Given the description of an element on the screen output the (x, y) to click on. 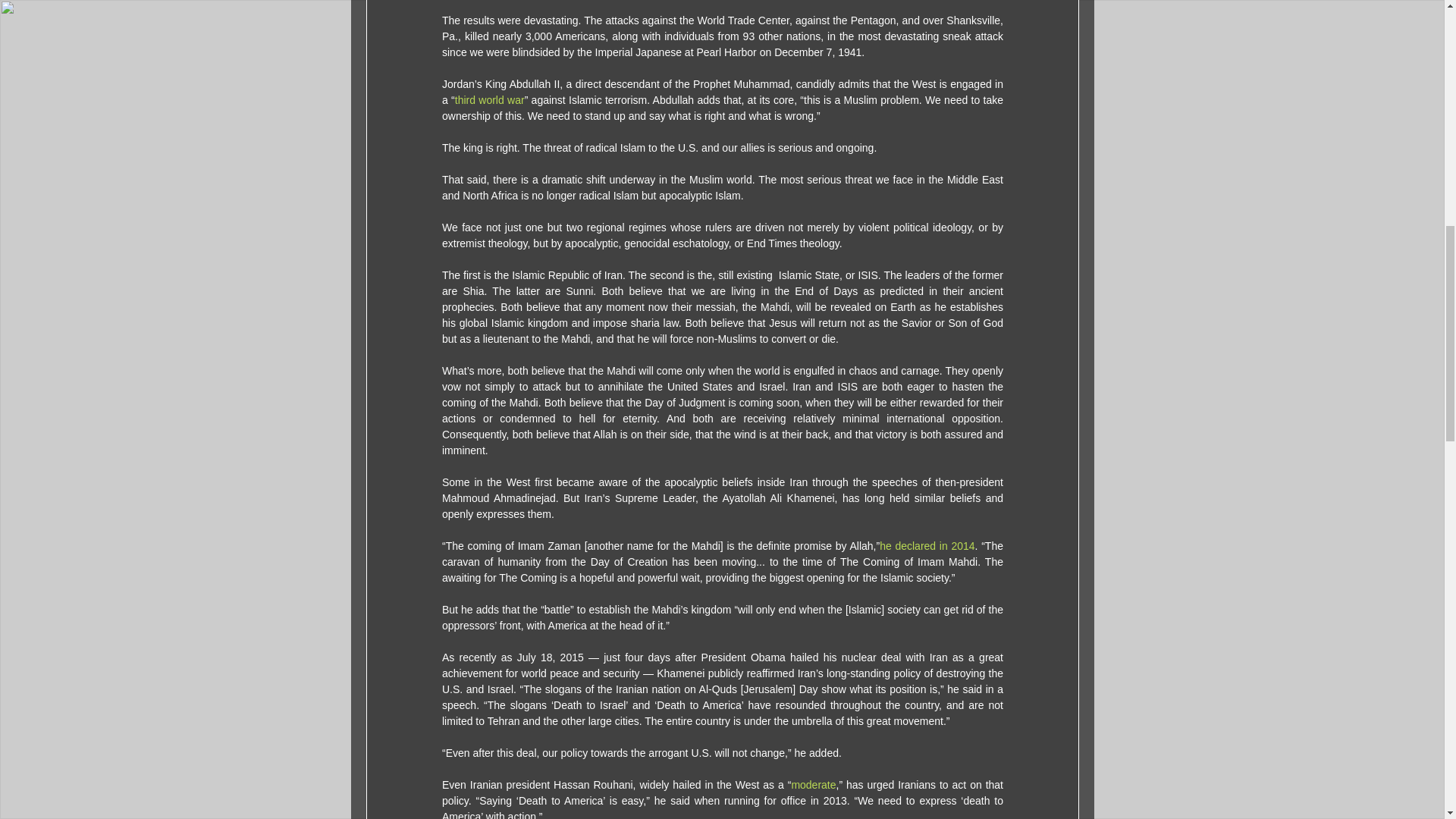
third world war (489, 100)
he declared in 2014 (926, 545)
moderate (812, 784)
